Given the description of an element on the screen output the (x, y) to click on. 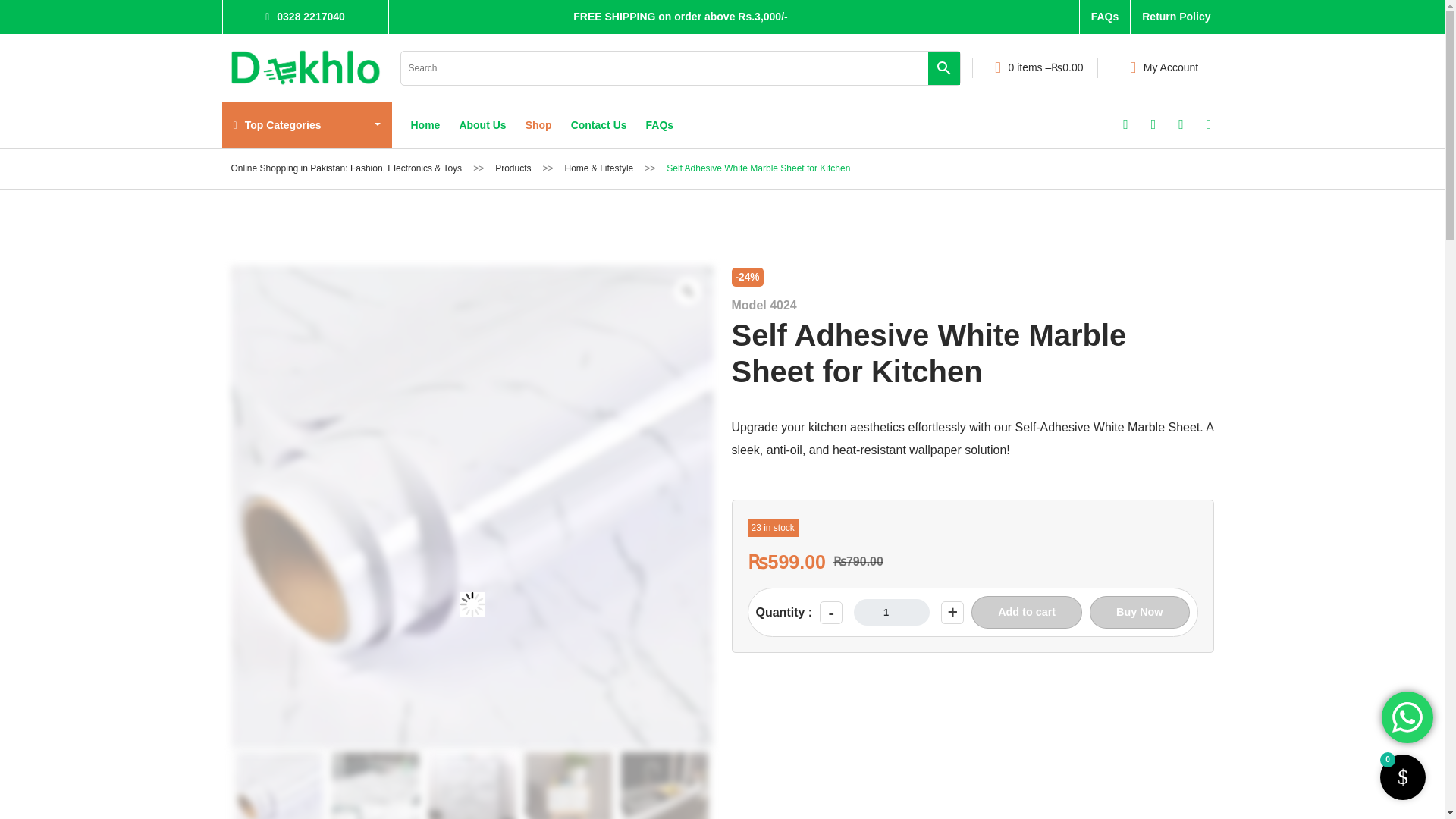
Contact Us (598, 125)
Products (513, 167)
Return Policy (1176, 17)
Go to Products. (513, 167)
0328 2217040 (304, 17)
Top Categories (306, 125)
White-Marble-Sheet-for-Kitchen (277, 785)
Self-Adhesive-White-Marble-Sheet-for-Kitchen (375, 785)
Add to cart (1026, 612)
- (831, 612)
Self-Adhesive-White-Marble-Sheet (471, 785)
Buy Now (1139, 612)
View your shopping cart (1034, 66)
WhatsApp us (1406, 716)
